Given the description of an element on the screen output the (x, y) to click on. 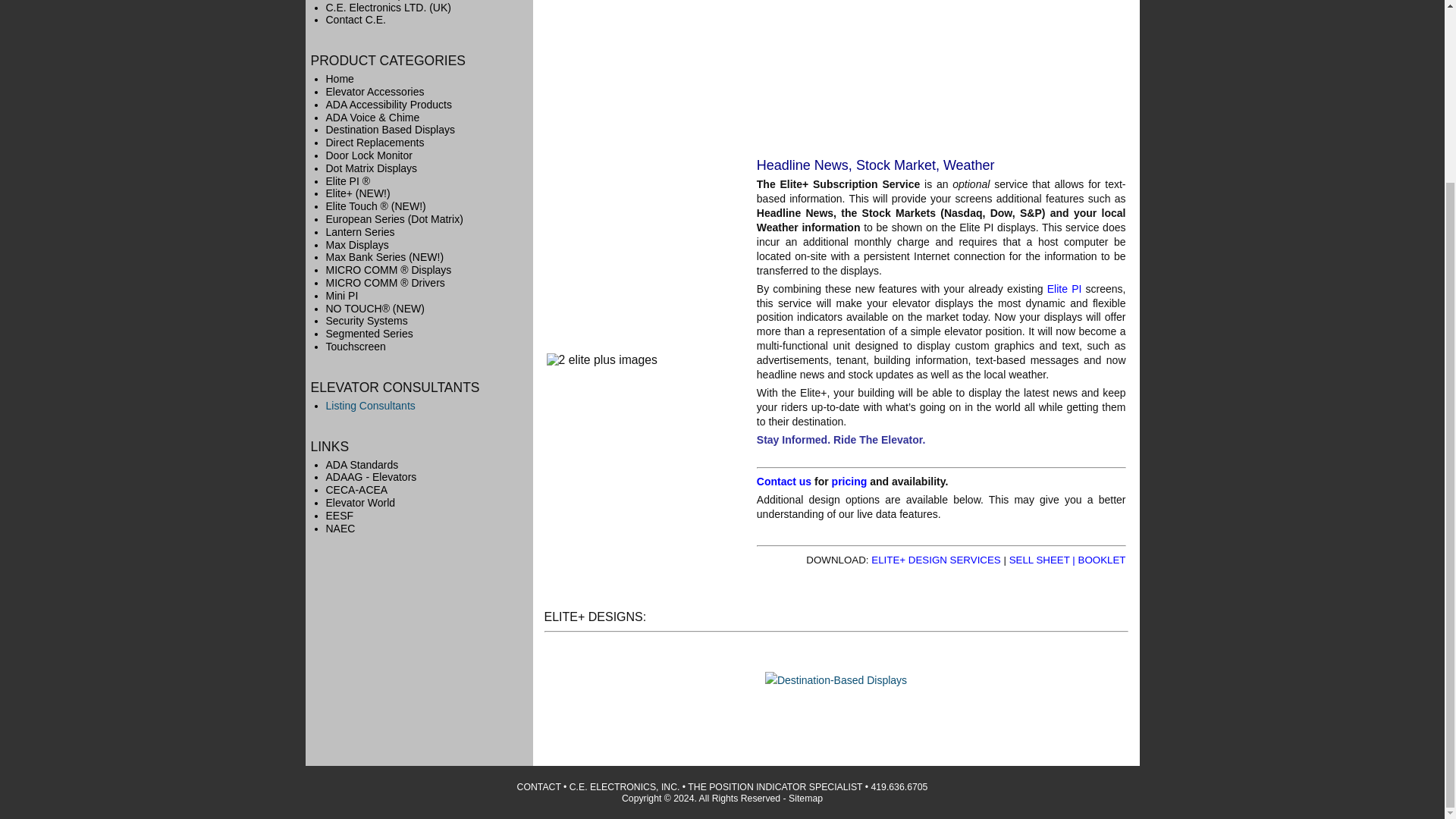
Elite Plus Design Services 041824 (935, 559)
Destination-Based Displays (836, 680)
Elite Plus Design Services 041824 (849, 481)
Elite PI (1063, 288)
